Given the description of an element on the screen output the (x, y) to click on. 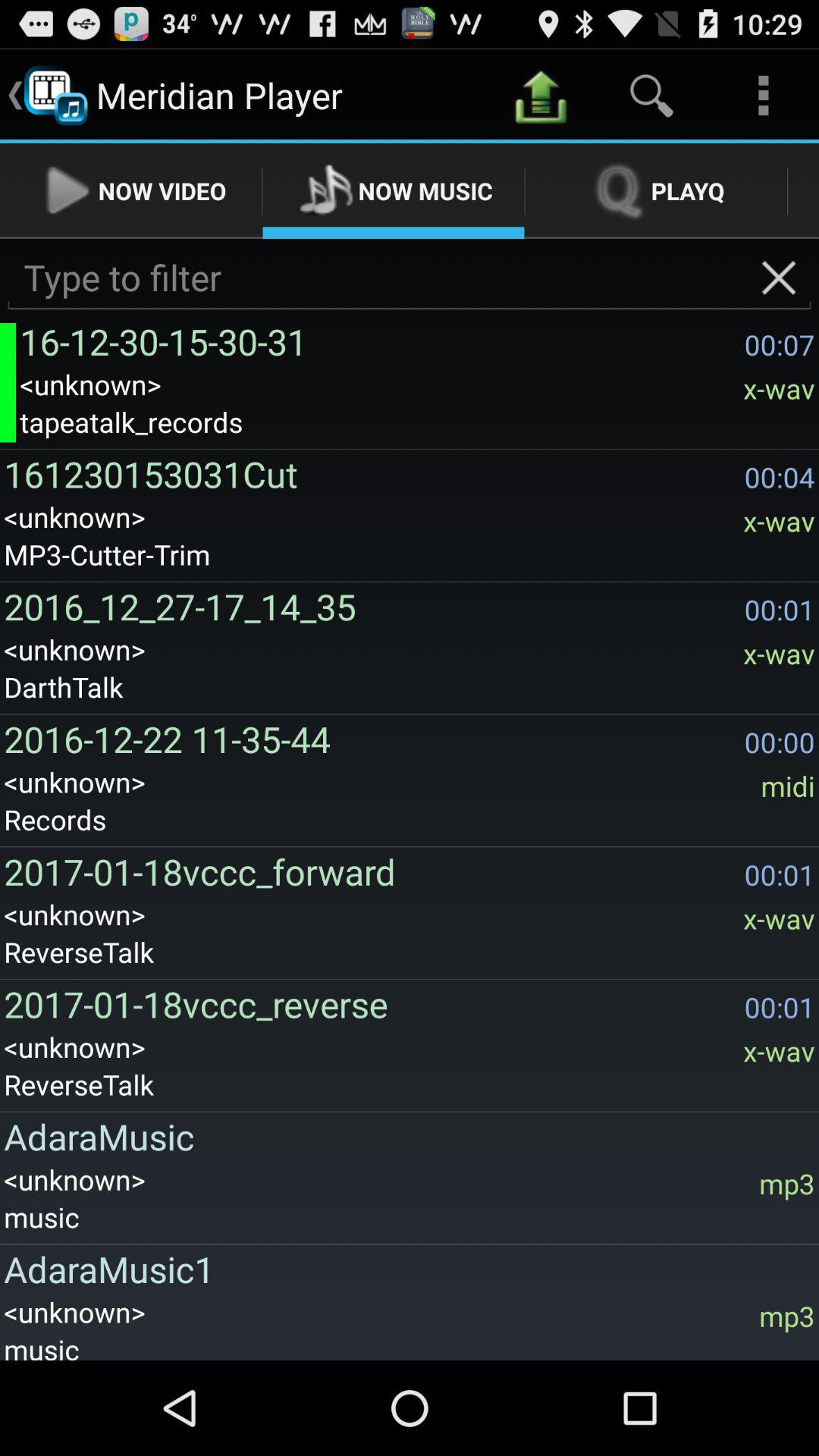
press item above the <unknown> item (377, 341)
